Given the description of an element on the screen output the (x, y) to click on. 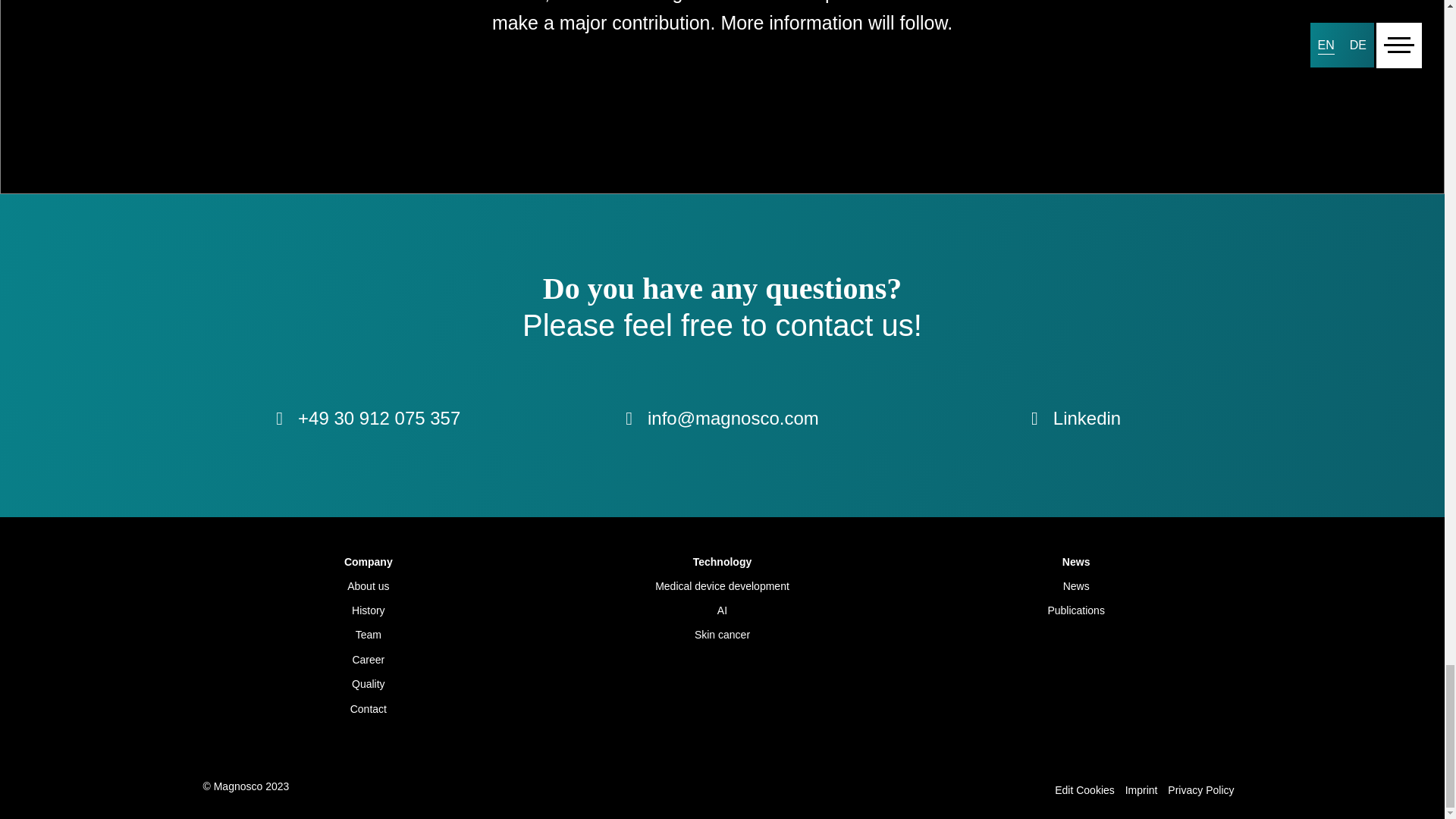
Publications (1076, 610)
Imprint (1145, 789)
Medical device development (722, 586)
Linkedin (1075, 422)
History (368, 610)
Team (368, 634)
Quality (368, 683)
News (1076, 586)
Skin cancer (722, 634)
Career (368, 659)
